Given the description of an element on the screen output the (x, y) to click on. 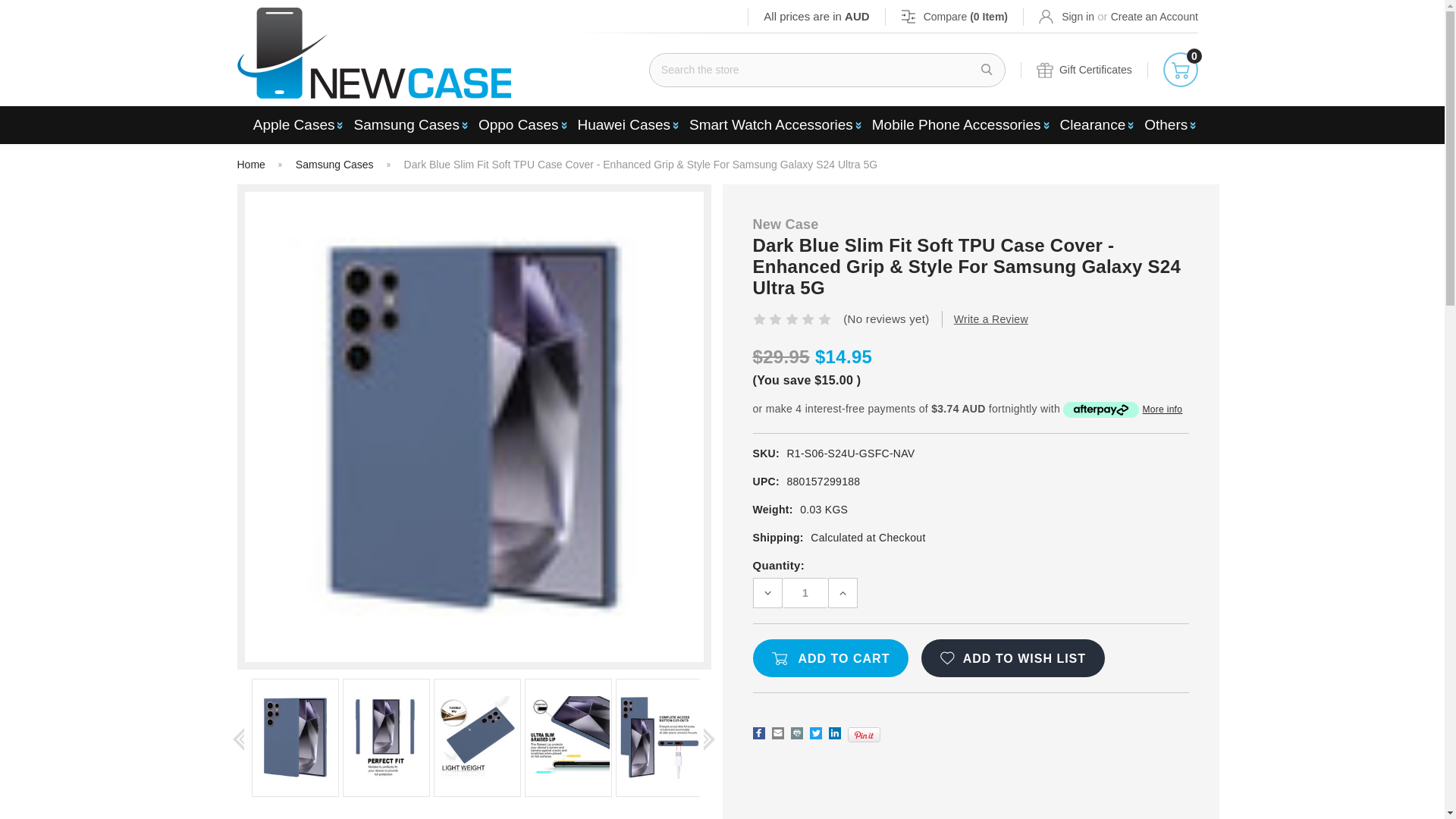
Add to Cart (830, 658)
1 (805, 593)
0 (1180, 69)
Gift Certificates (1084, 69)
Sign in (1066, 16)
Search (987, 69)
Search (987, 69)
Apple Cases (296, 125)
Create an Account (1154, 16)
New Case (373, 52)
